Given the description of an element on the screen output the (x, y) to click on. 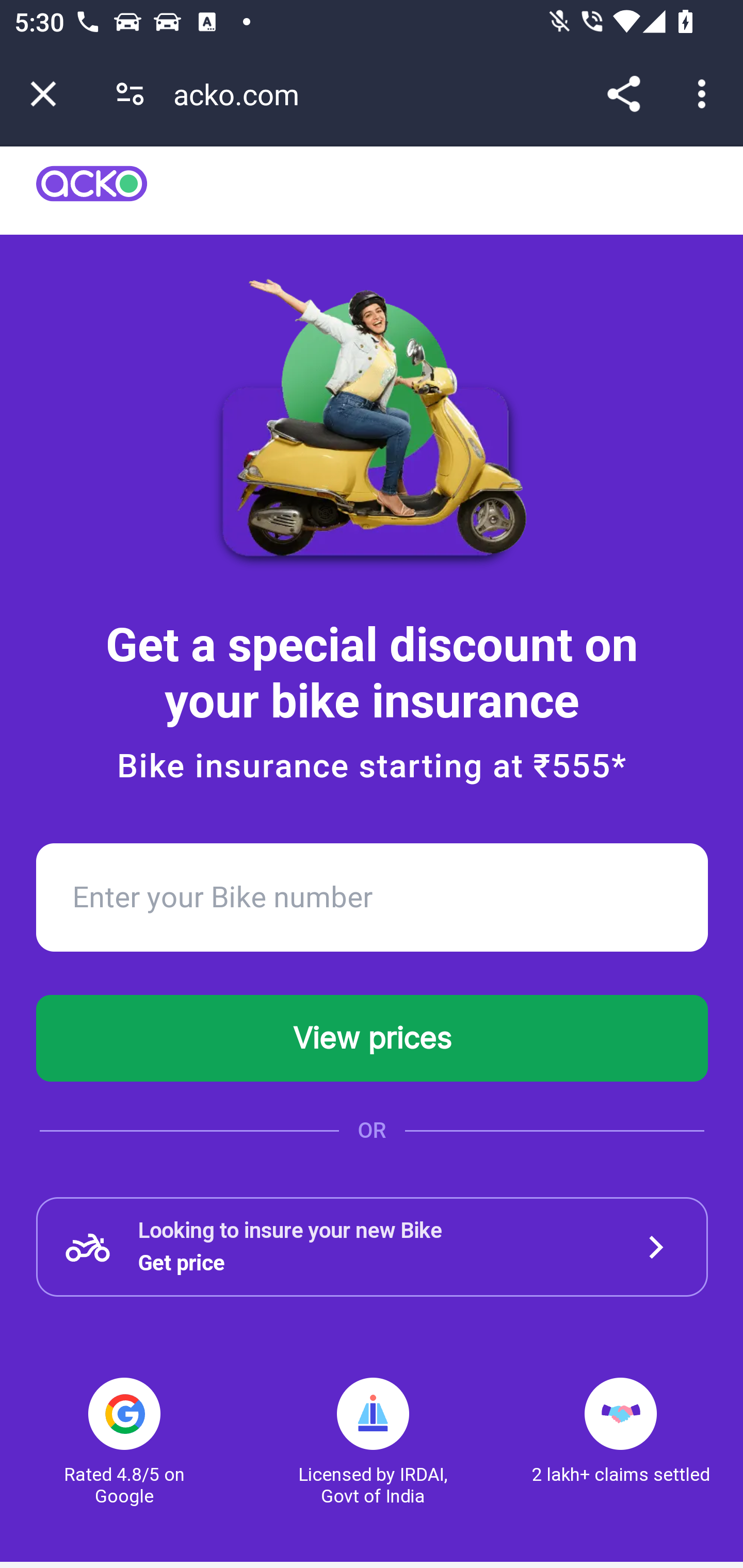
Close tab (43, 93)
Share (623, 93)
Customize and control Google Chrome (705, 93)
Connection is secure (129, 93)
acko.com (243, 93)
url (91, 189)
View prices (372, 1037)
Looking to insure your new Bike Get price (372, 1247)
